Given the description of an element on the screen output the (x, y) to click on. 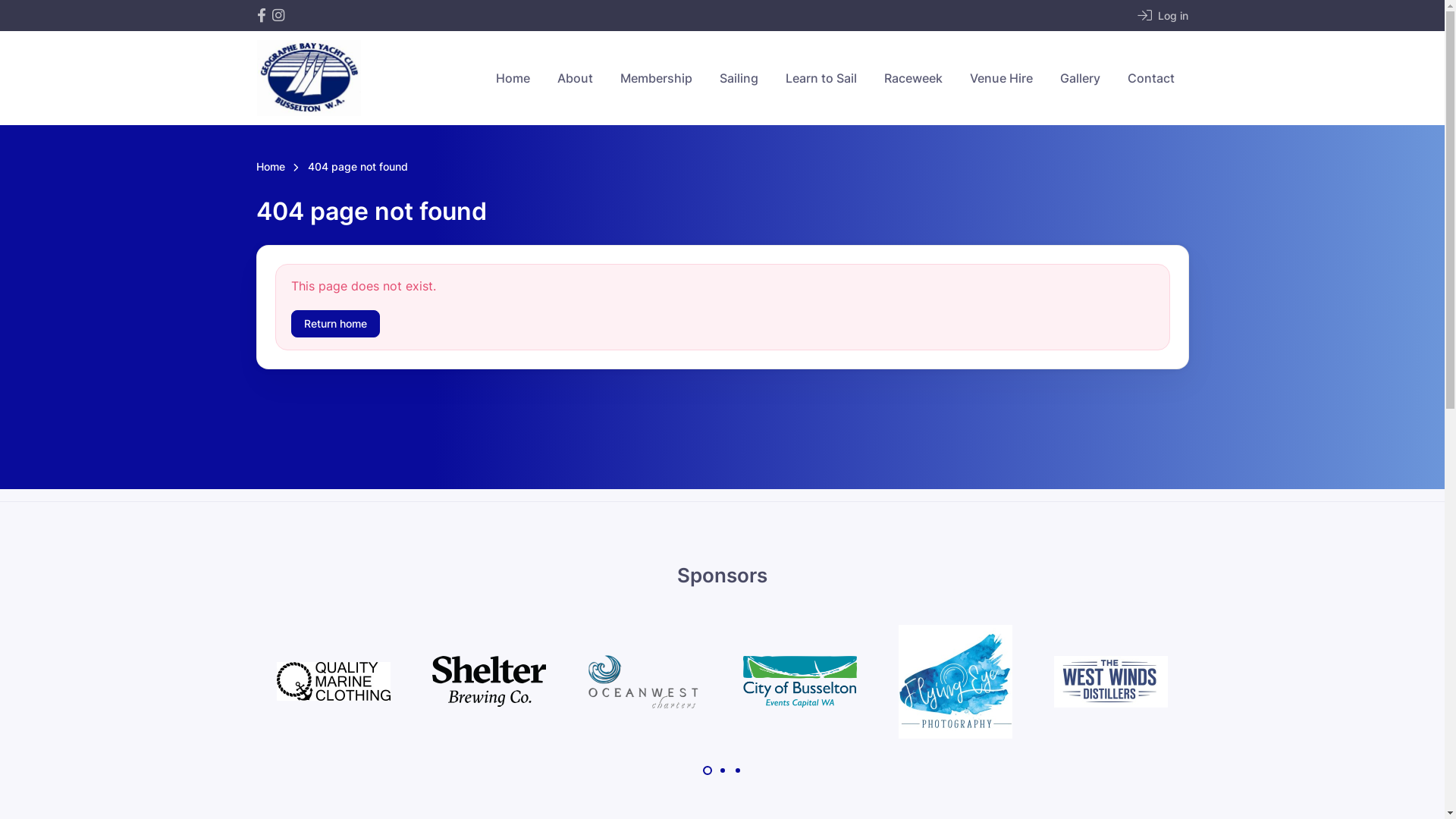
Home Element type: text (270, 167)
Sailing Element type: text (738, 77)
Venue Hire Element type: text (1000, 77)
Quality Marine Clothing Element type: hover (333, 681)
Flying Eye Photography Element type: hover (955, 681)
Learn to Sail Element type: text (820, 77)
Oceanwest Charters Element type: hover (644, 681)
Contact Element type: text (1150, 77)
Shelter Brewing Co Element type: hover (489, 680)
Geographe Bay Yacht Club on Facebook Element type: hover (260, 15)
Gallery Element type: text (1079, 77)
Raceweek Element type: text (913, 77)
About Element type: text (573, 77)
City of Busselton Element type: hover (799, 681)
Home Element type: text (512, 77)
Return home Element type: text (335, 323)
Log in Element type: text (1162, 15)
Geographe Bay Yacht Club on Instagram Element type: hover (277, 15)
Membership Element type: text (656, 77)
The West Winds Distillers Element type: hover (1110, 681)
